Given the description of an element on the screen output the (x, y) to click on. 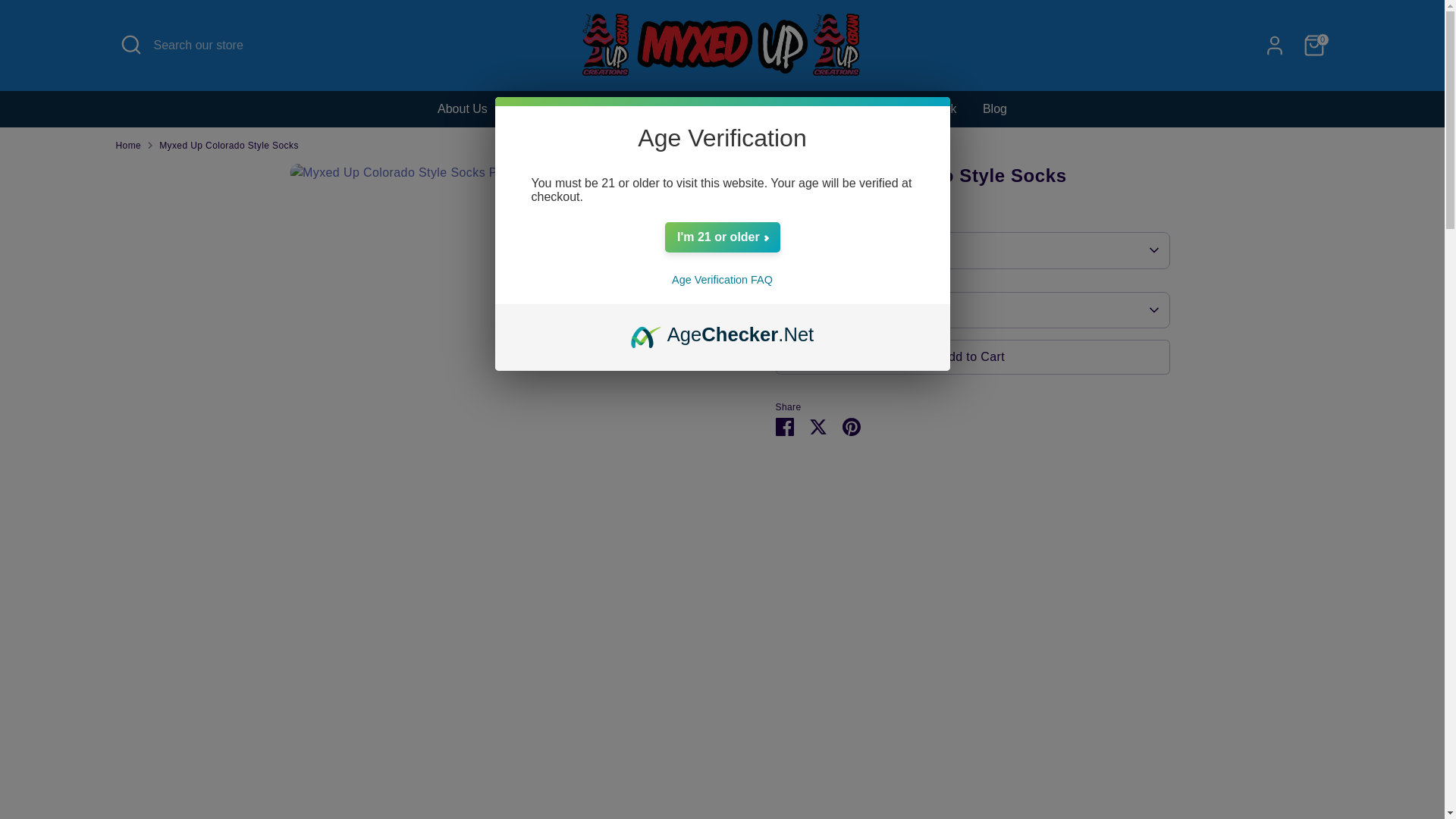
0 (1312, 45)
